Given the description of an element on the screen output the (x, y) to click on. 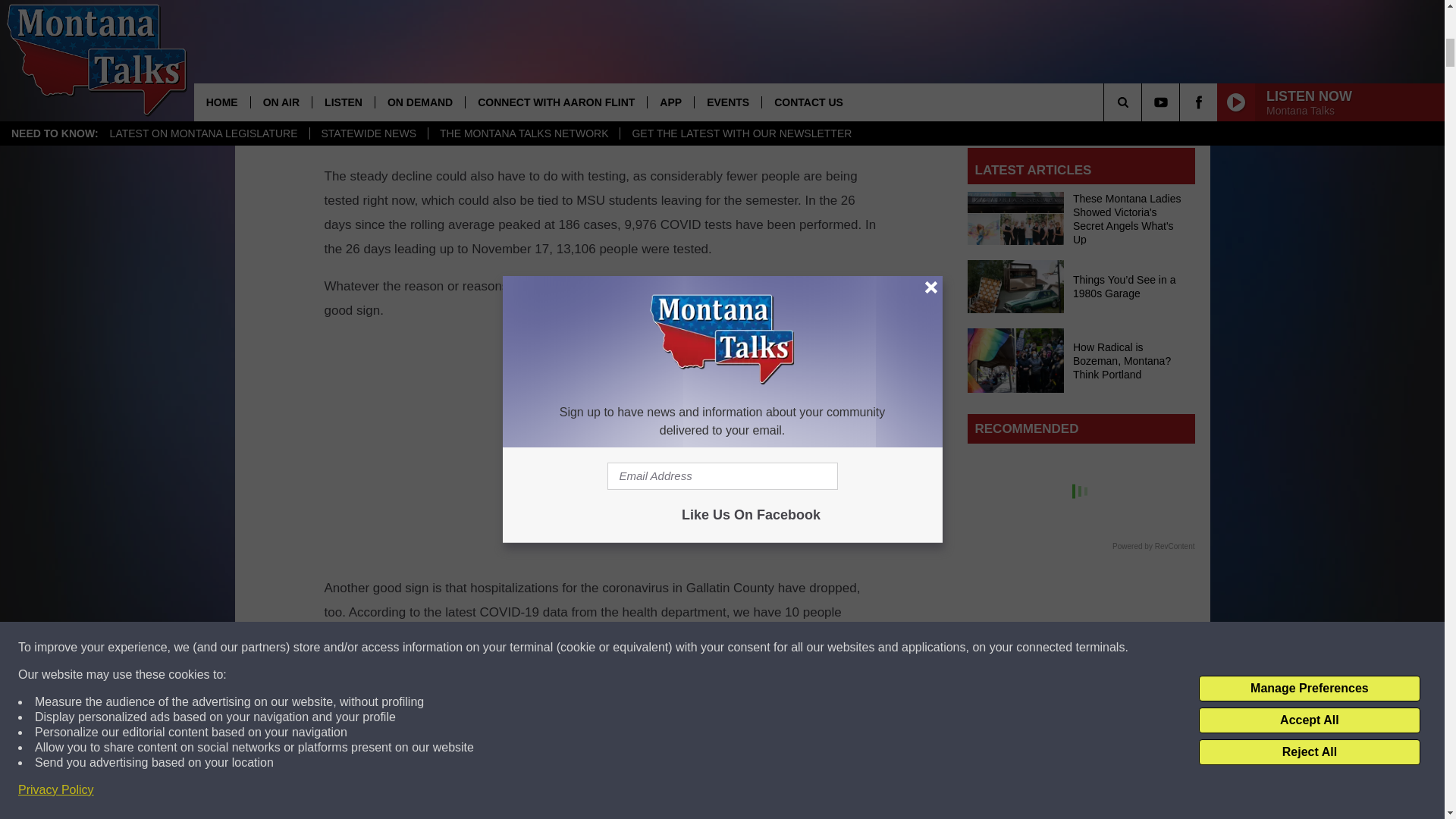
Email Address (1080, 103)
